Given the description of an element on the screen output the (x, y) to click on. 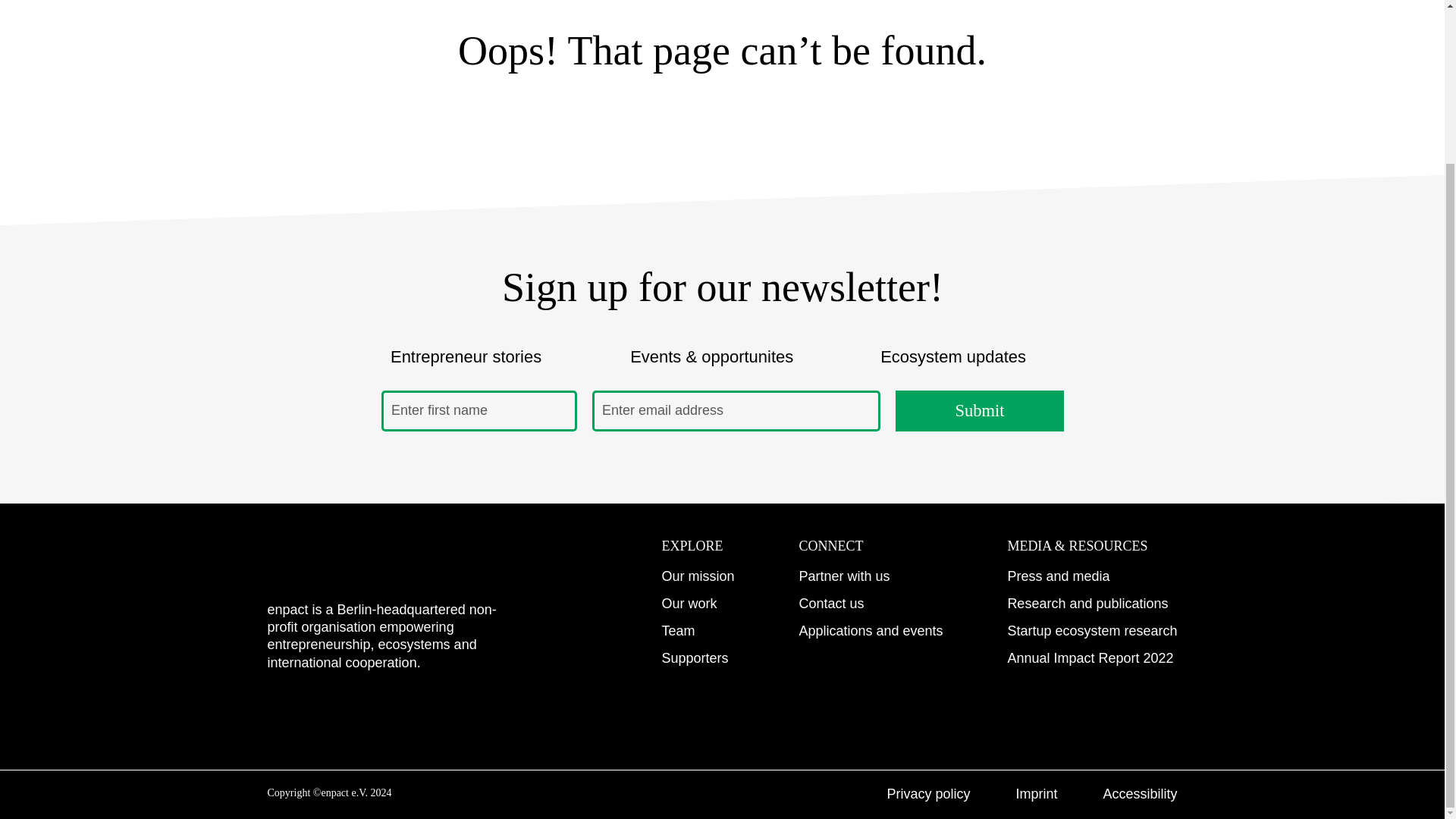
Facebook (402, 711)
Team (677, 630)
Submit (978, 410)
Partner with us (843, 575)
Our work (688, 603)
Twitter (464, 711)
Supporters (694, 657)
LinkedIn (341, 711)
Our mission (697, 575)
Instagram (278, 711)
